Given the description of an element on the screen output the (x, y) to click on. 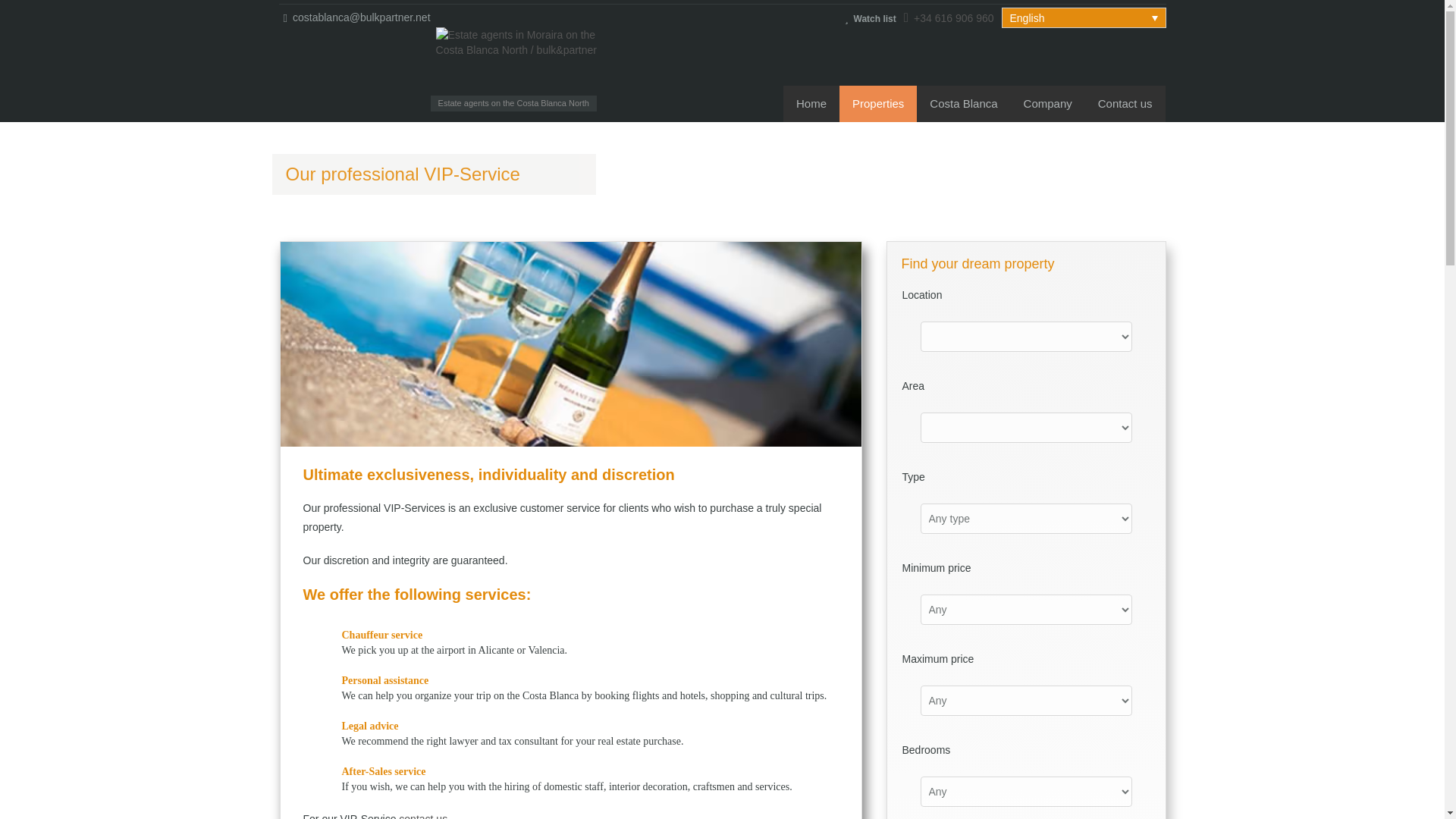
contact us. (423, 816)
Company and Team (1047, 103)
Get in contact with us (1125, 103)
Properties (878, 103)
Company (1047, 103)
Costa Blanca North (963, 103)
English (1083, 17)
Watch list (870, 18)
Contact us (1125, 103)
Costa Blanca (963, 103)
